Given the description of an element on the screen output the (x, y) to click on. 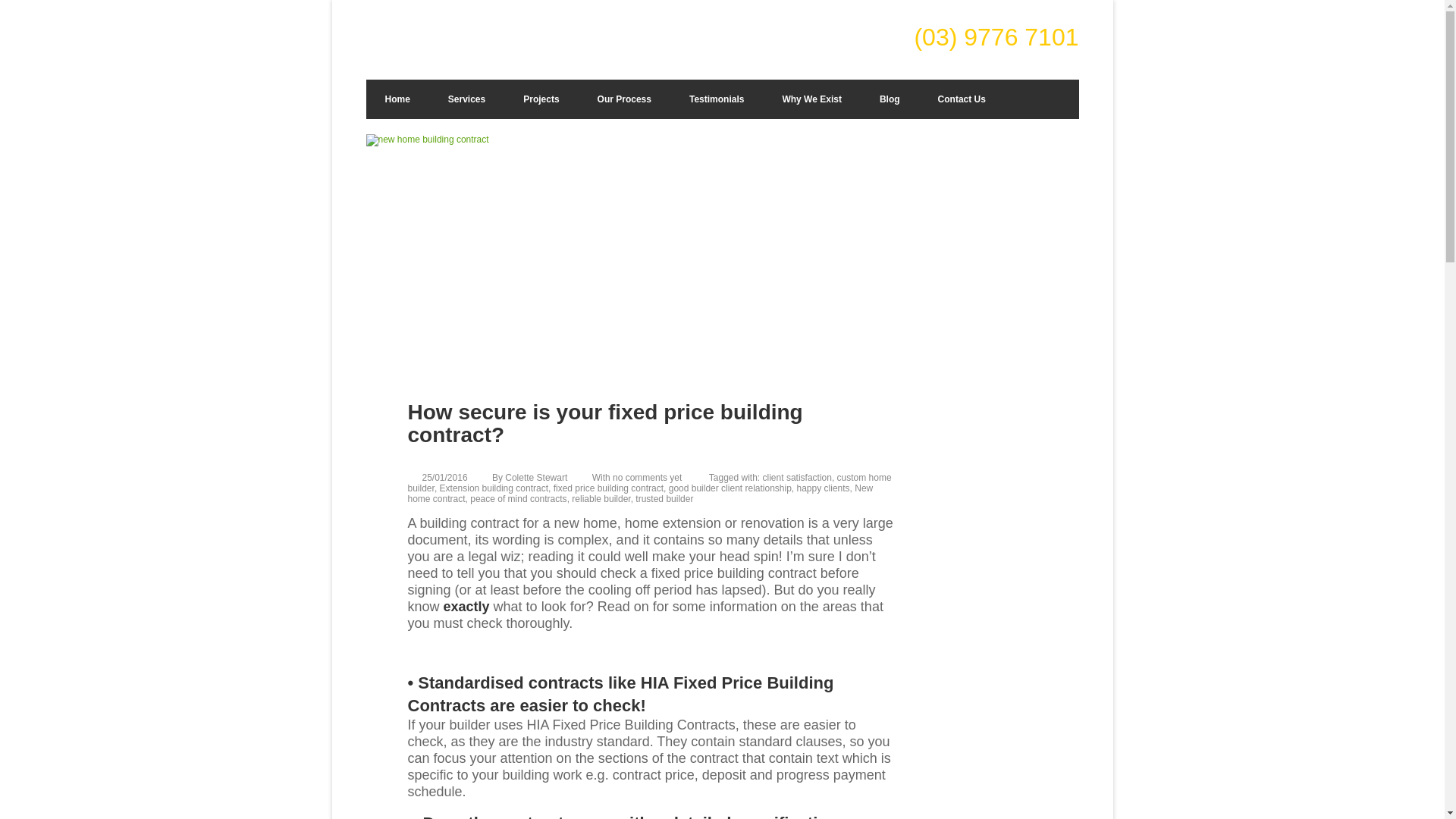
custom home builder (649, 482)
New home contract (640, 493)
fixed price building contract (608, 488)
Testimonials (715, 98)
Services (466, 98)
good builder client relationship (730, 488)
Colette Stewart (536, 477)
happy clients (823, 488)
Custom Home Builder Melbourne (467, 47)
Our Process (623, 98)
Extension building contract (493, 488)
11:24 AM (444, 477)
Projects (540, 98)
